Given the description of an element on the screen output the (x, y) to click on. 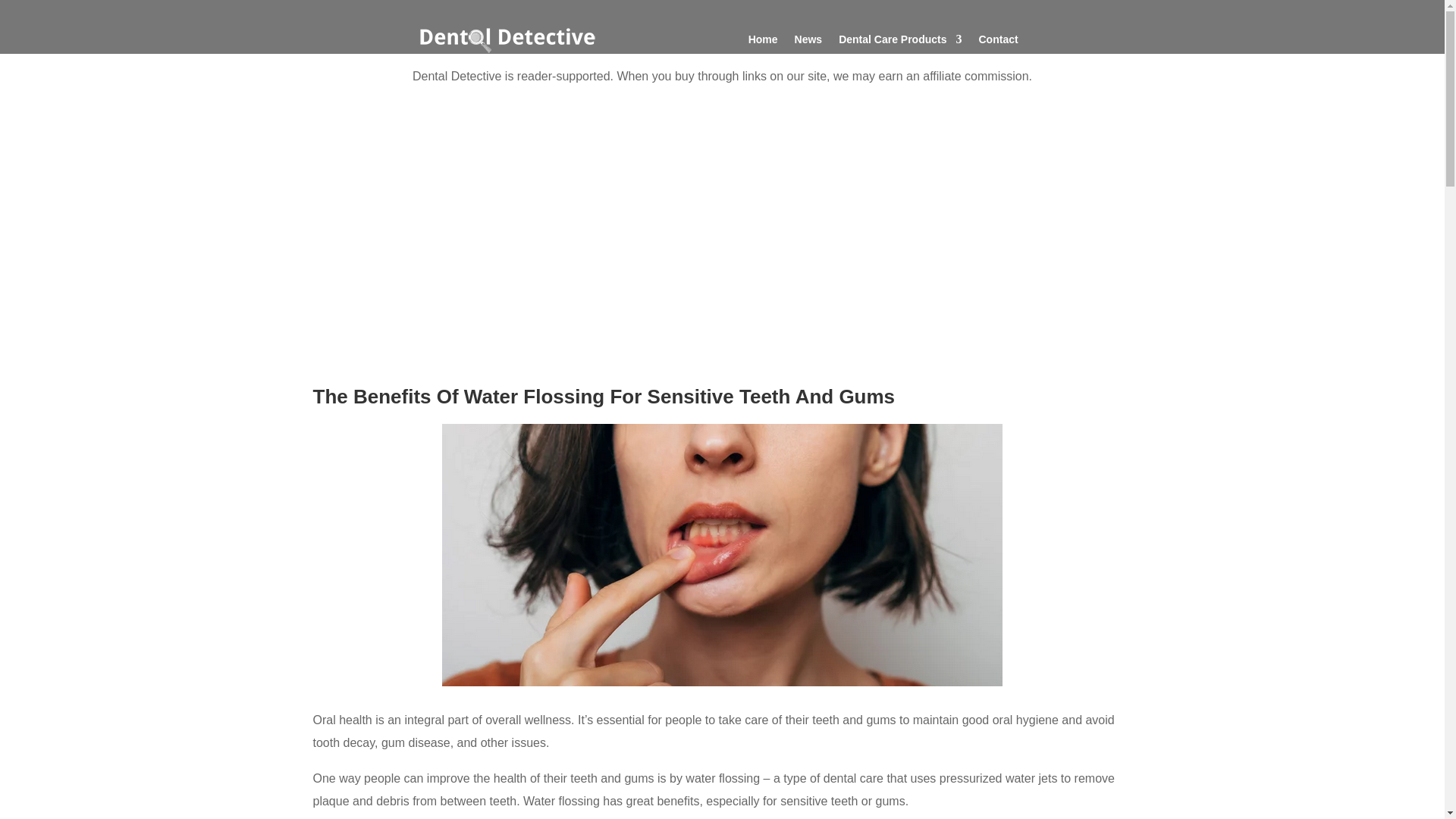
Dental Care Products (899, 42)
Home (762, 42)
Contact (997, 42)
News (808, 42)
